Given the description of an element on the screen output the (x, y) to click on. 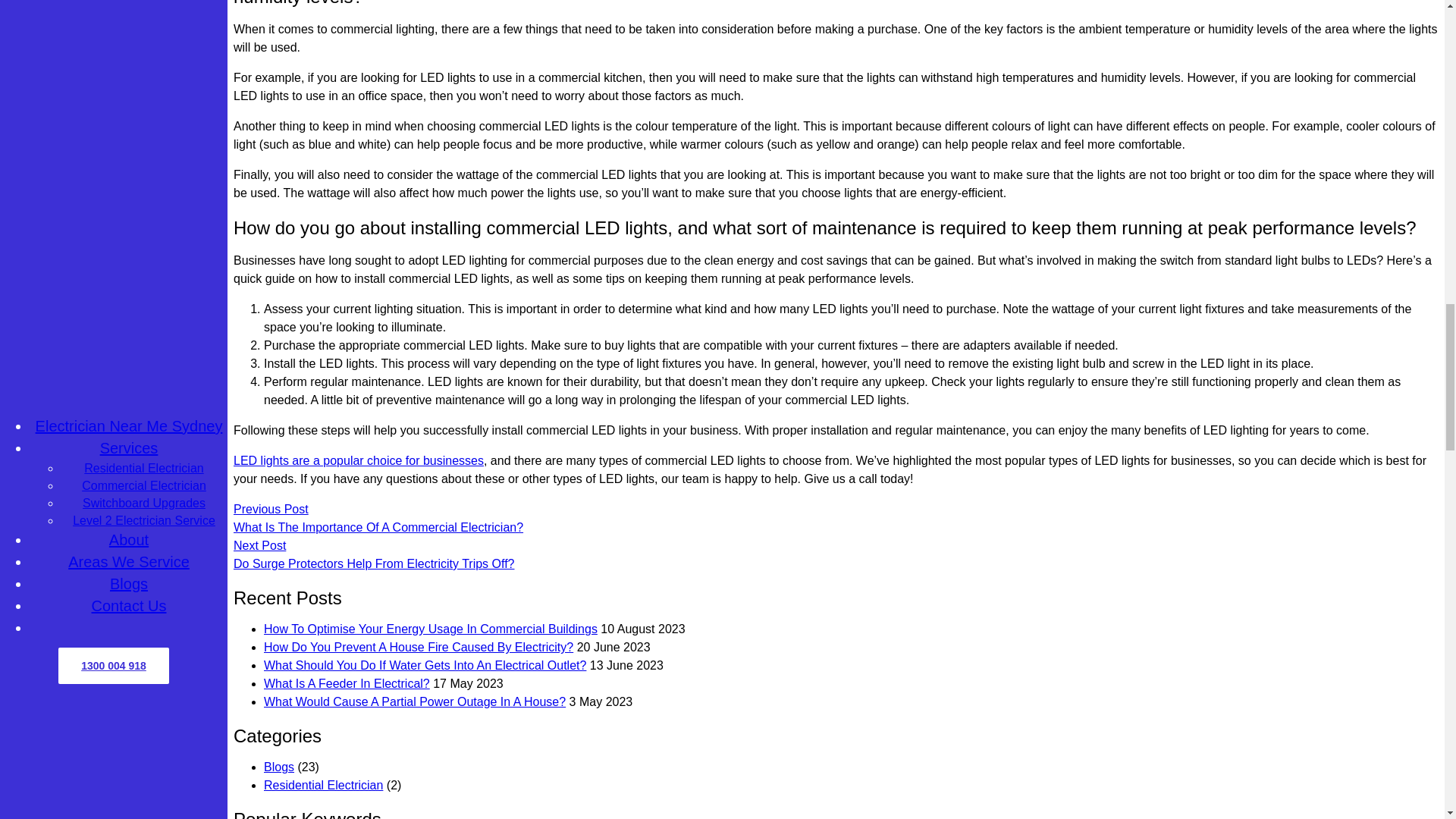
What Should You Do If Water Gets Into An Electrical Outlet? (424, 665)
What Would Cause A Partial Power Outage In A House? (414, 701)
LED lights are a popular choice for businesses (357, 460)
How To Optimise Your Energy Usage In Commercial Buildings (429, 628)
Blogs (278, 766)
How Do You Prevent A House Fire Caused By Electricity? (418, 646)
Residential Electrician (322, 784)
What Is A Feeder In Electrical? (346, 683)
